Given the description of an element on the screen output the (x, y) to click on. 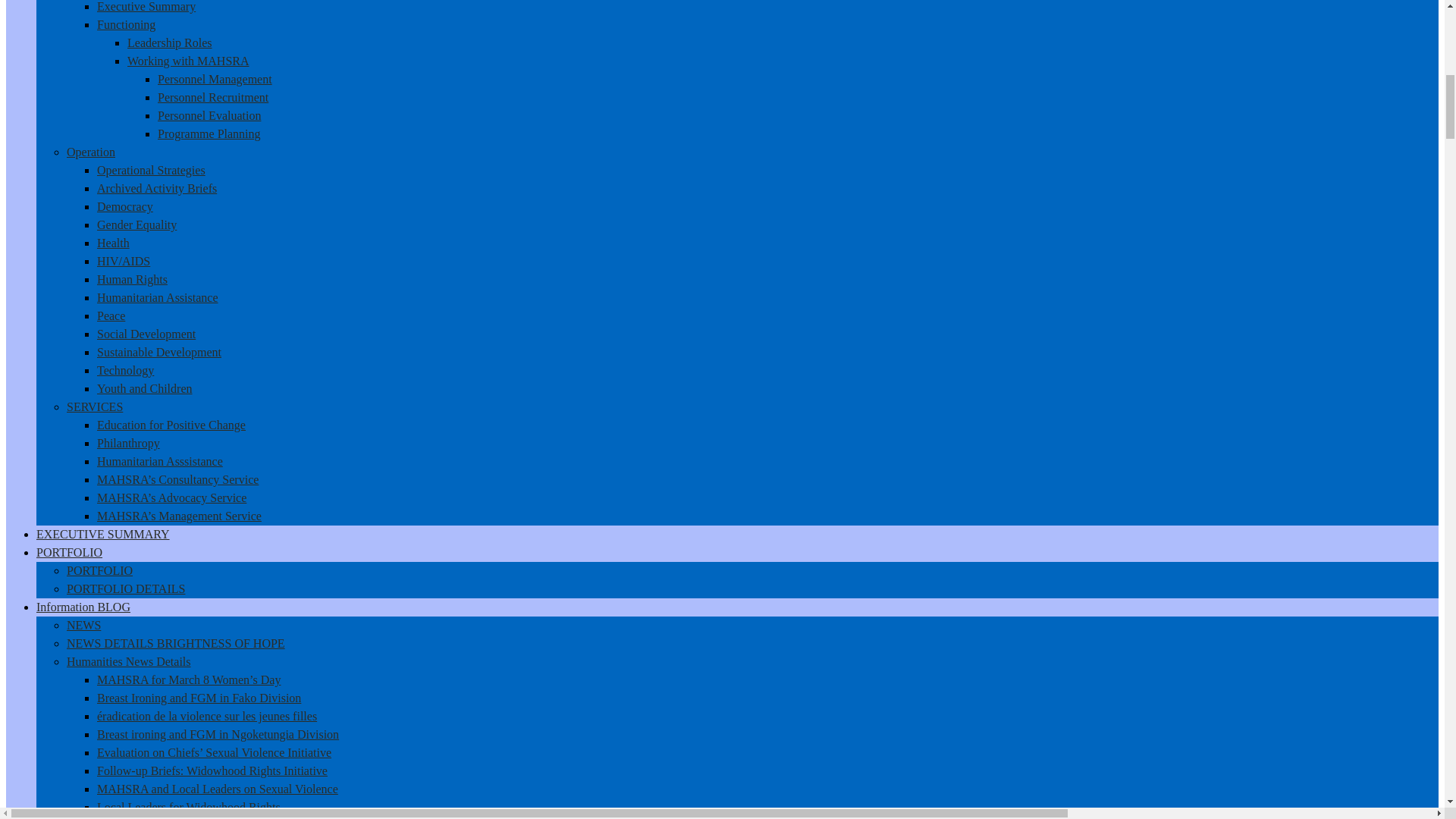
Operational Strategies (151, 169)
Functioning (126, 24)
Health (113, 242)
Democracy (124, 205)
Personnel Evaluation (208, 115)
Archived Activity Briefs (156, 187)
Personnel Recruitment (212, 97)
Gender Equality (136, 224)
Executive Summary (146, 6)
Operation (90, 151)
